Given the description of an element on the screen output the (x, y) to click on. 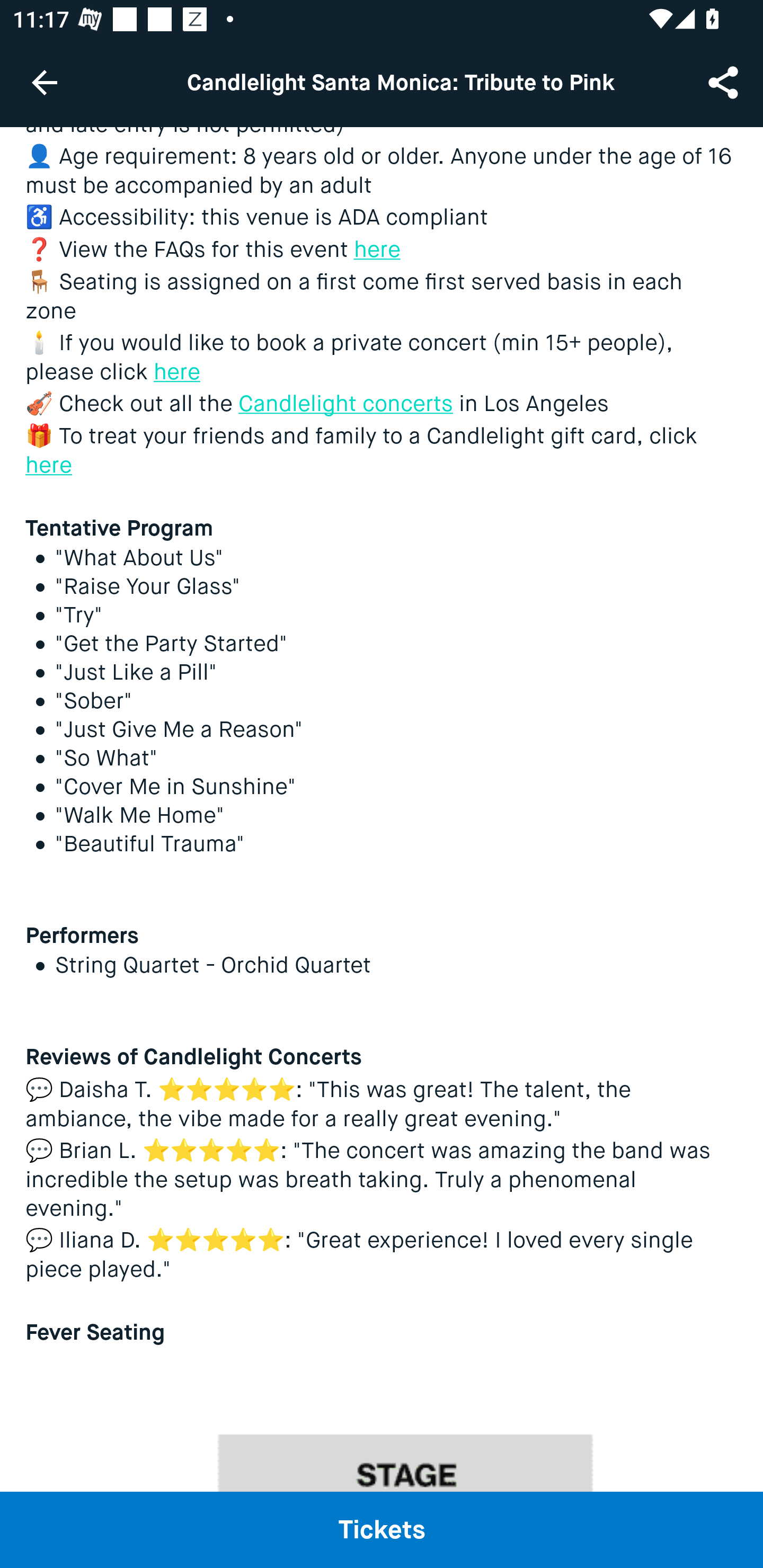
Navigate up (44, 82)
Share (724, 81)
Tickets (381, 1529)
